Given the description of an element on the screen output the (x, y) to click on. 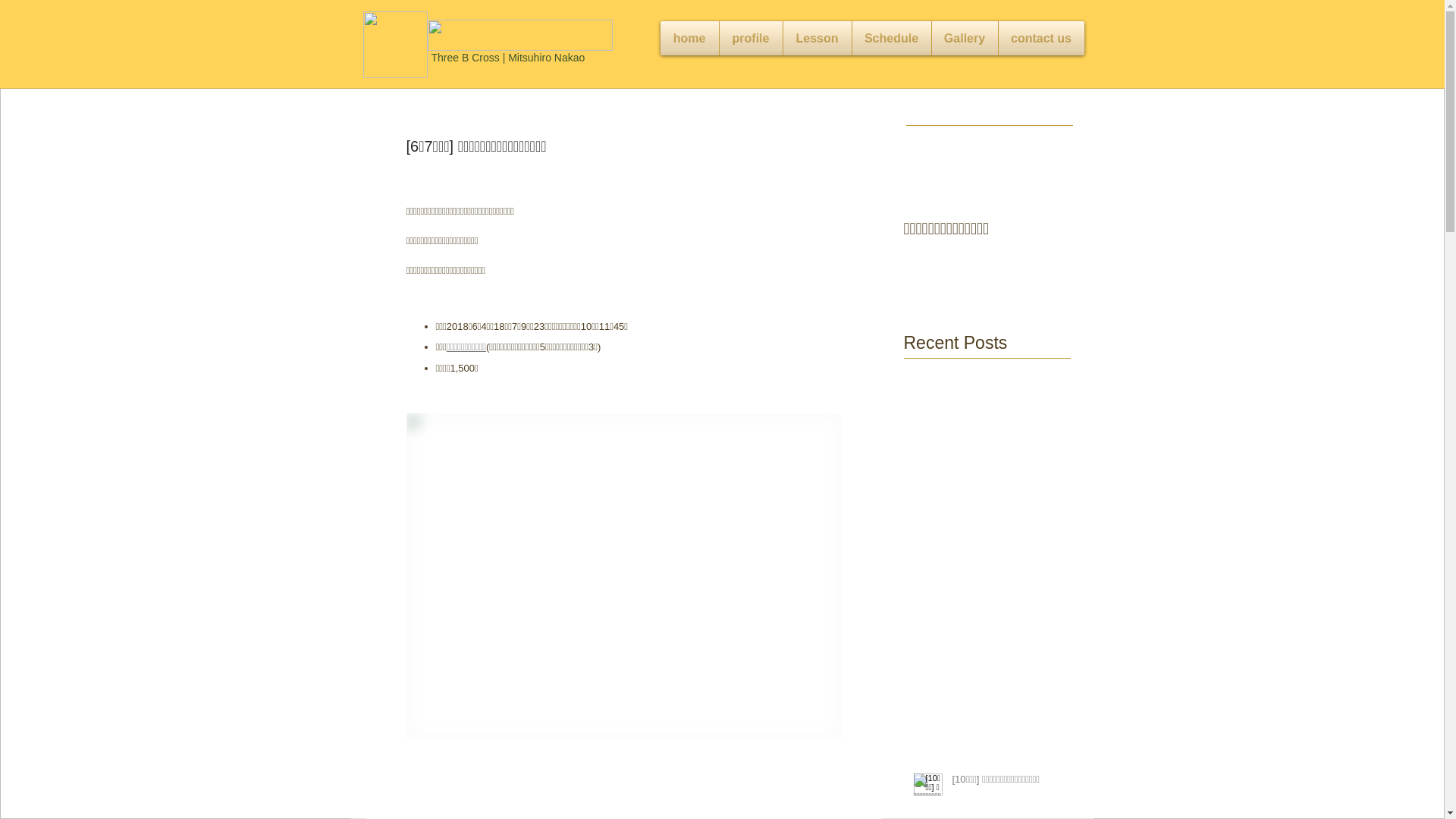
Schedule Element type: text (891, 38)
profile Element type: text (749, 38)
home Element type: text (688, 38)
Gallery Element type: text (964, 38)
Lesson Element type: text (816, 38)
contact us Element type: text (1040, 38)
